Given the description of an element on the screen output the (x, y) to click on. 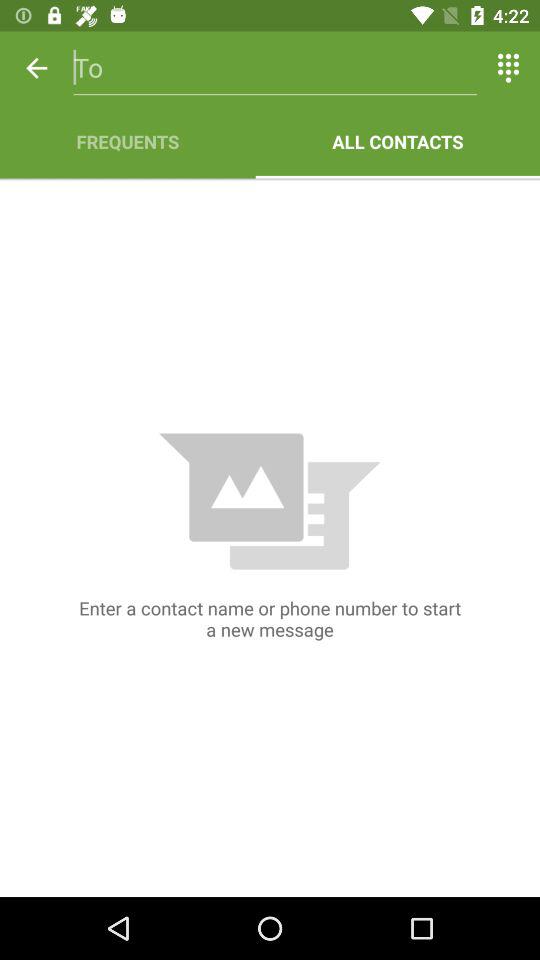
open the item above frequents app (36, 68)
